Given the description of an element on the screen output the (x, y) to click on. 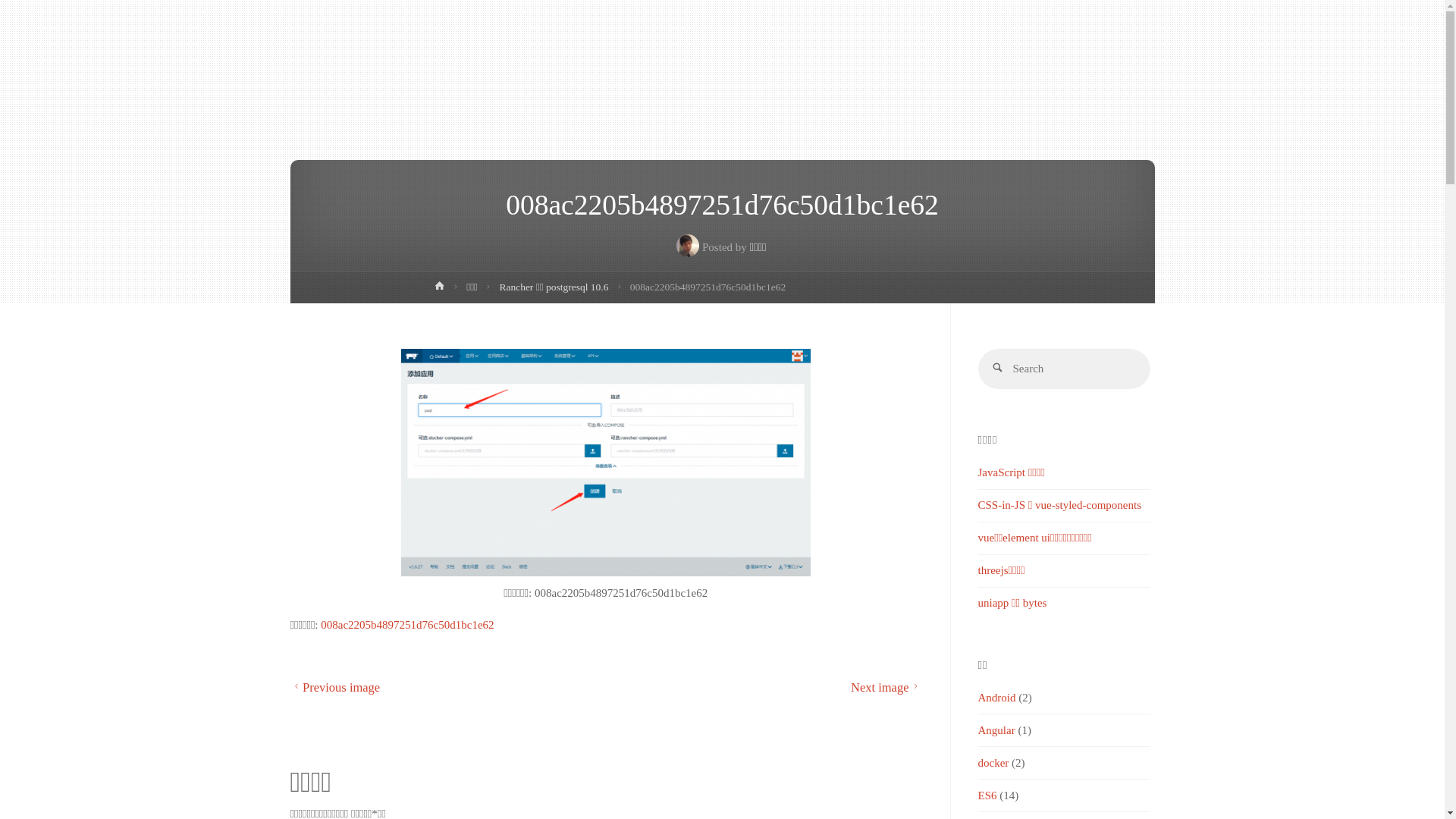
Home Element type: hover (439, 289)
Angular Element type: text (996, 729)
Android Element type: text (997, 697)
Previous image Element type: text (334, 686)
Next image Element type: text (885, 686)
008ac2205b4897251d76c50d1bc1e62 Element type: text (406, 624)
docker Element type: text (993, 762)
ES6 Element type: text (987, 794)
